Given the description of an element on the screen output the (x, y) to click on. 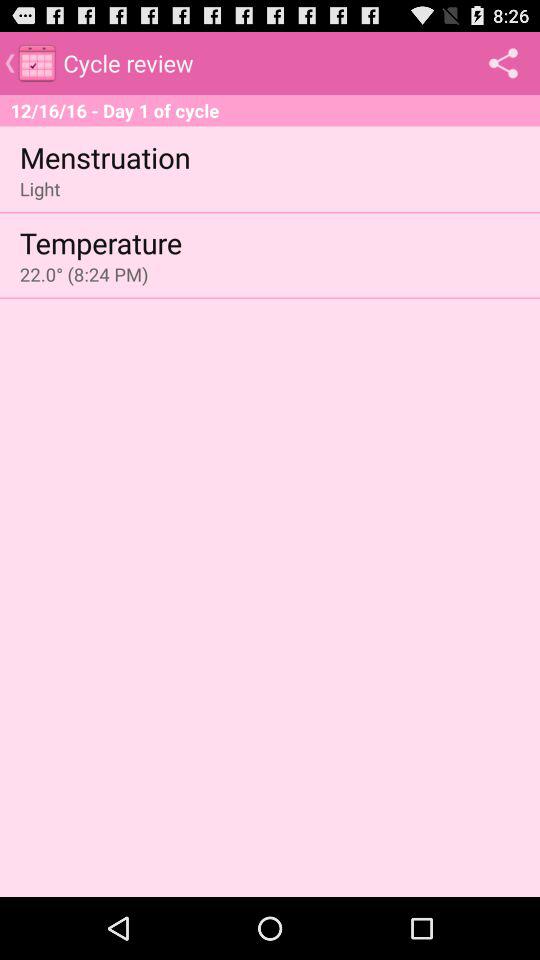
click the temperature (100, 242)
